Given the description of an element on the screen output the (x, y) to click on. 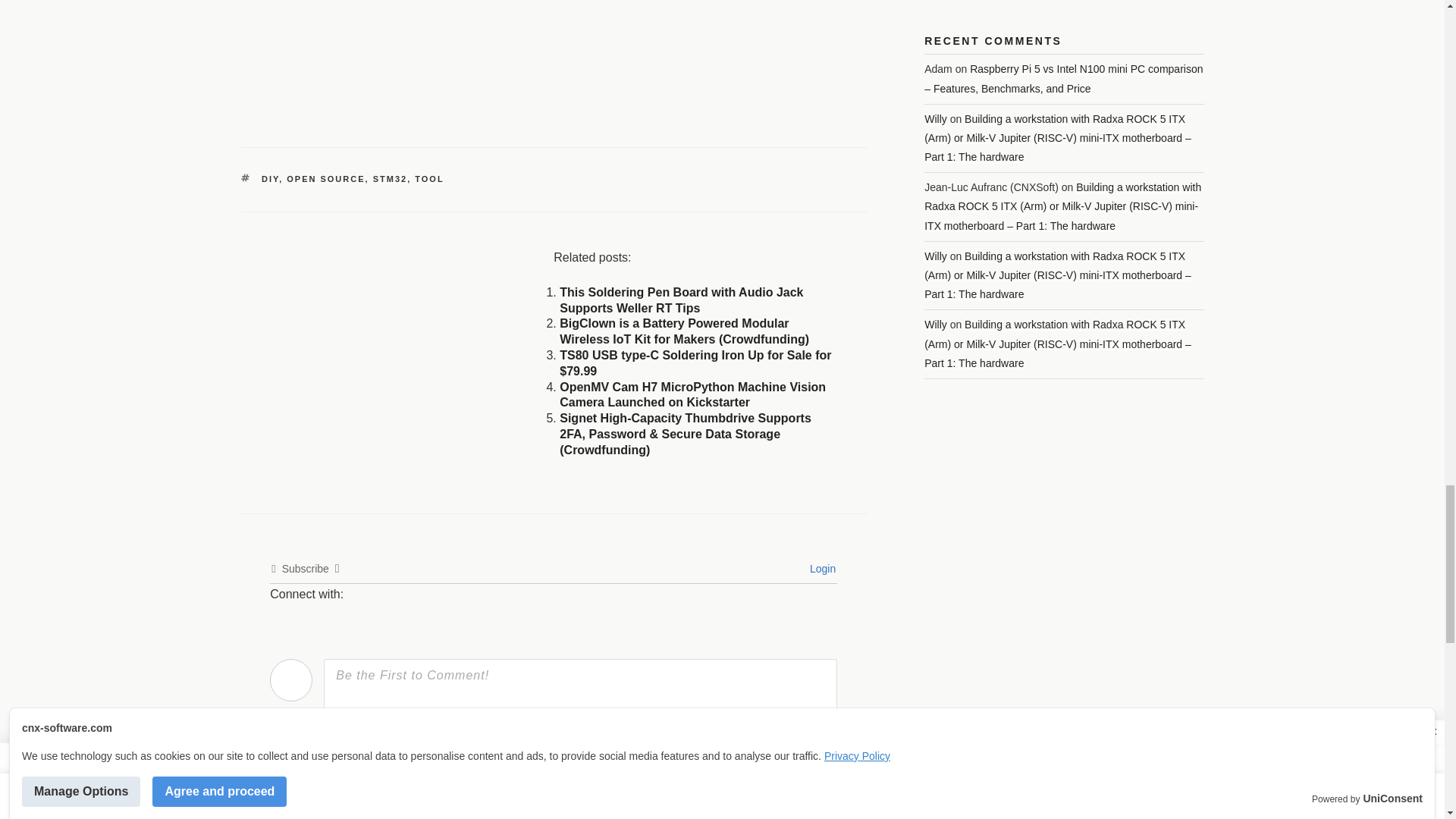
1 (686, 754)
Post Comment (777, 785)
